Given the description of an element on the screen output the (x, y) to click on. 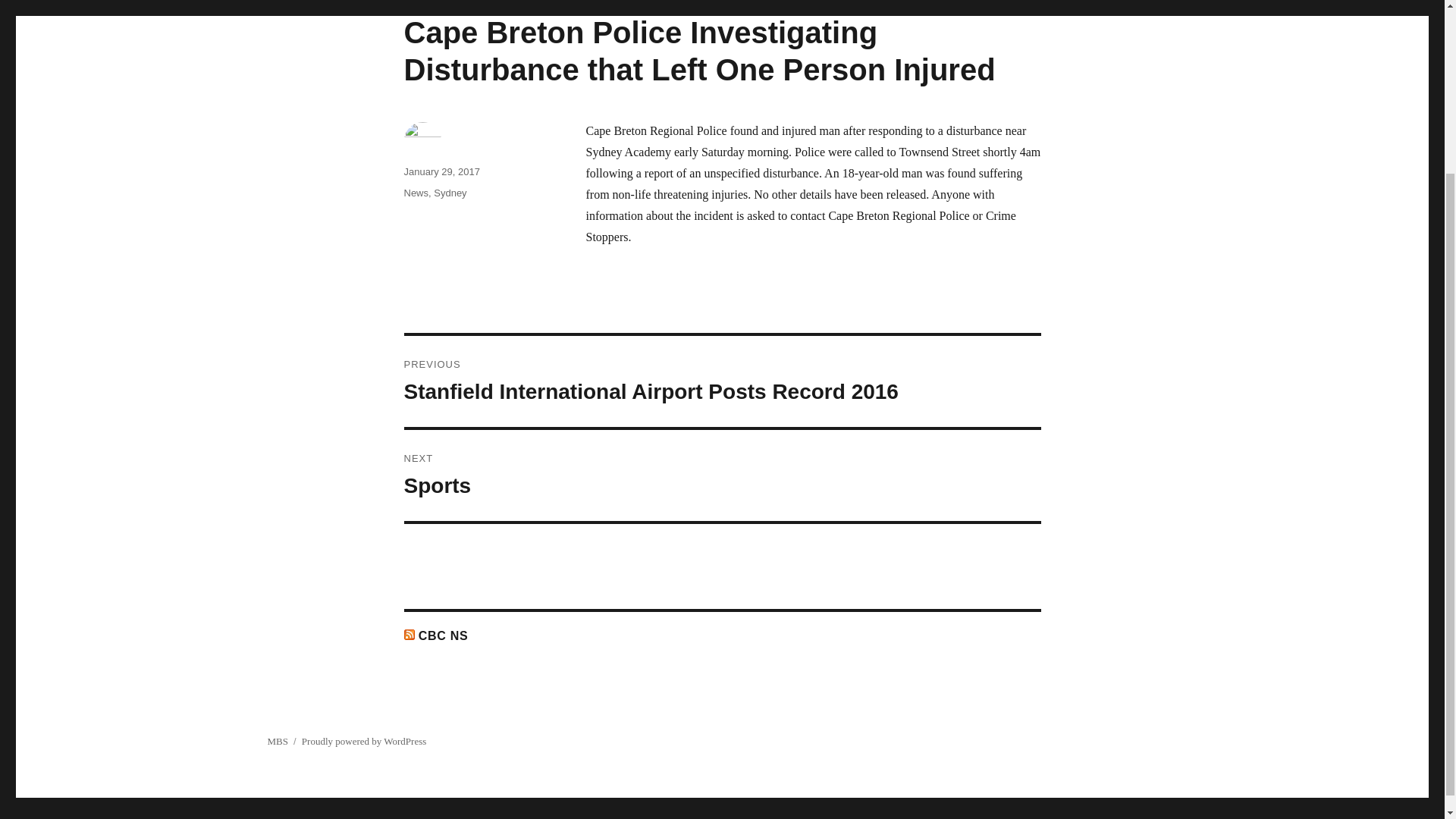
MBS (722, 474)
CBC NS (276, 740)
Proudly powered by WordPress (443, 635)
News (363, 740)
January 29, 2017 (415, 193)
Sydney (441, 171)
